Given the description of an element on the screen output the (x, y) to click on. 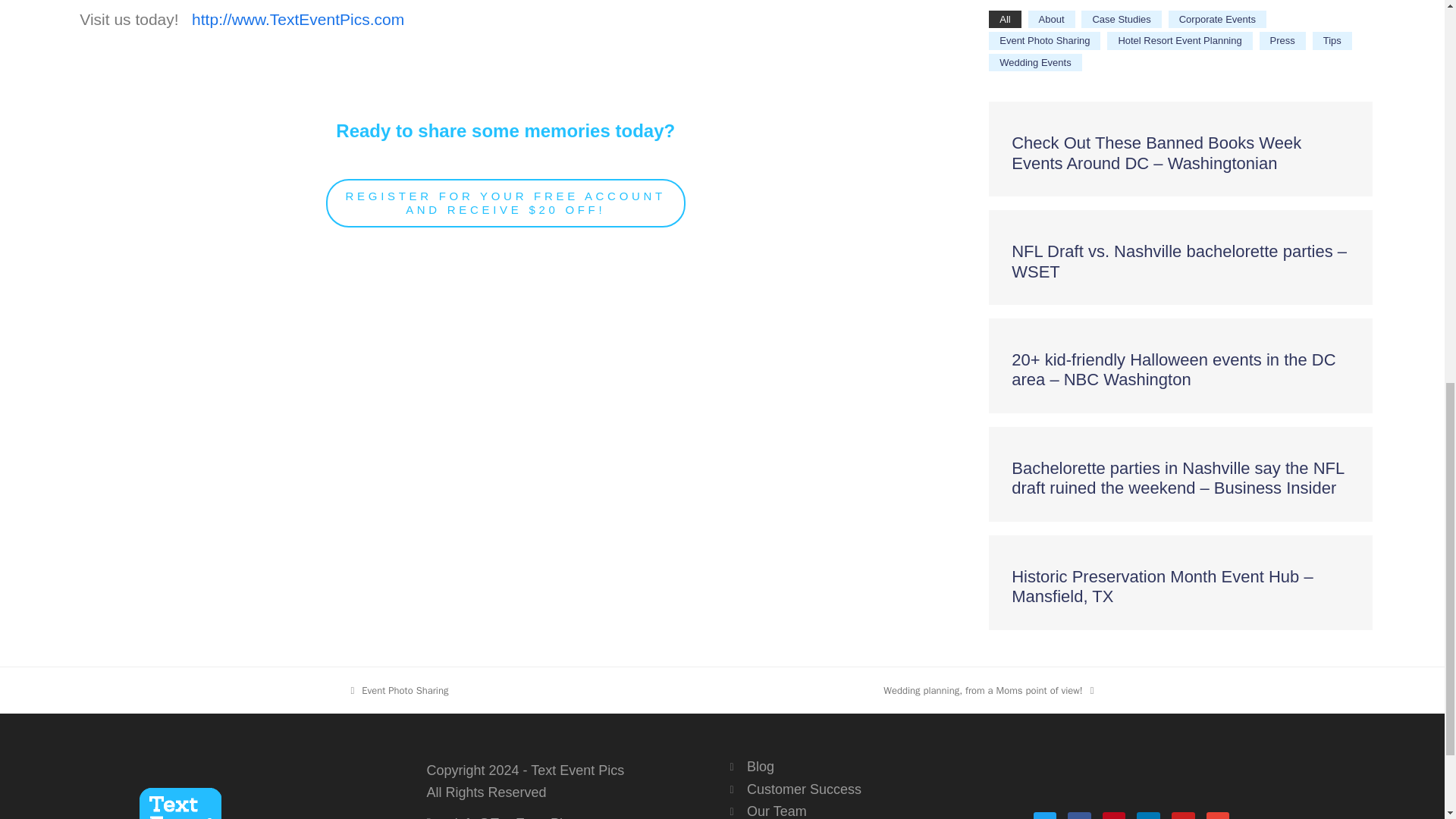
Customer Success (873, 790)
Blog (873, 767)
Our Team (873, 811)
Wedding planning, from a Moms point of view! (988, 690)
Event Photo Sharing (399, 690)
